Given the description of an element on the screen output the (x, y) to click on. 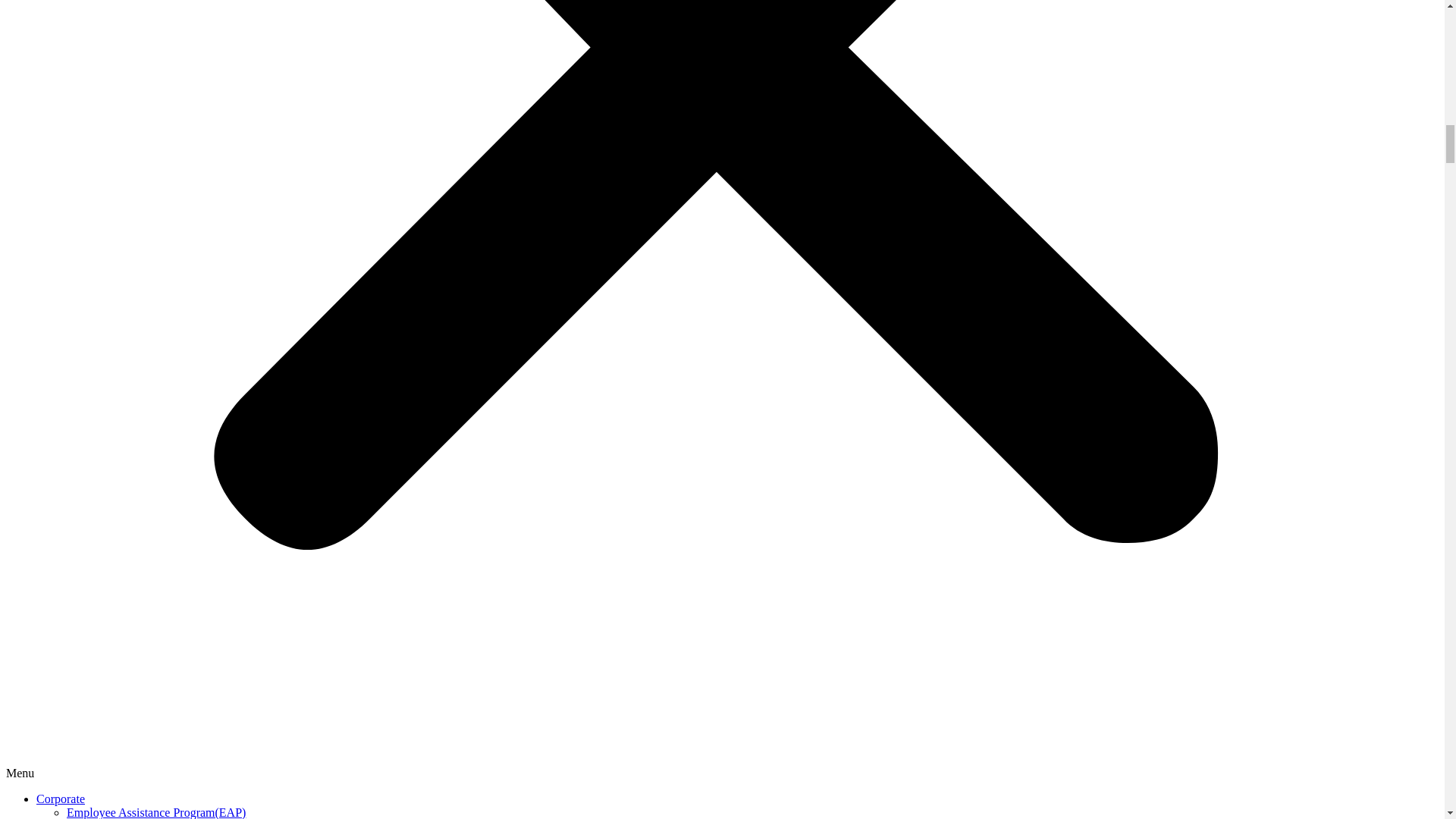
Corporate (60, 798)
